Given the description of an element on the screen output the (x, y) to click on. 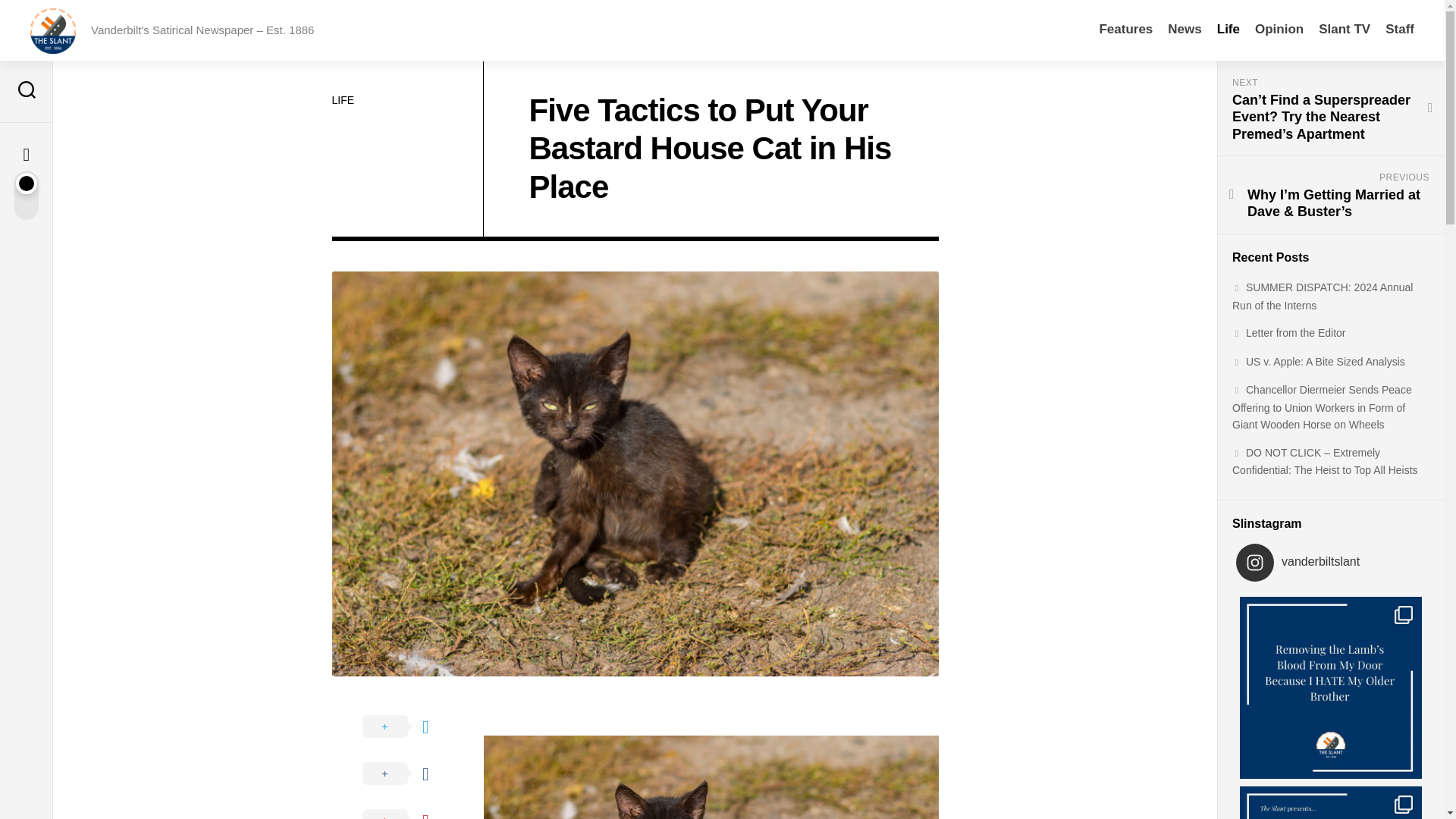
Life (1228, 29)
Share on Pinterest (407, 808)
Share on Facebook (407, 774)
vanderbiltslant (1334, 562)
US v. Apple: A Bite Sized Analysis (1318, 360)
Features (1126, 29)
LIFE (343, 100)
Opinion (1279, 29)
Letter from the Editor (1288, 332)
Slant TV (1344, 29)
SUMMER DISPATCH: 2024 Annual Run of the Interns (1321, 296)
Staff (1399, 29)
What? (1344, 29)
Share on X (407, 727)
